Given the description of an element on the screen output the (x, y) to click on. 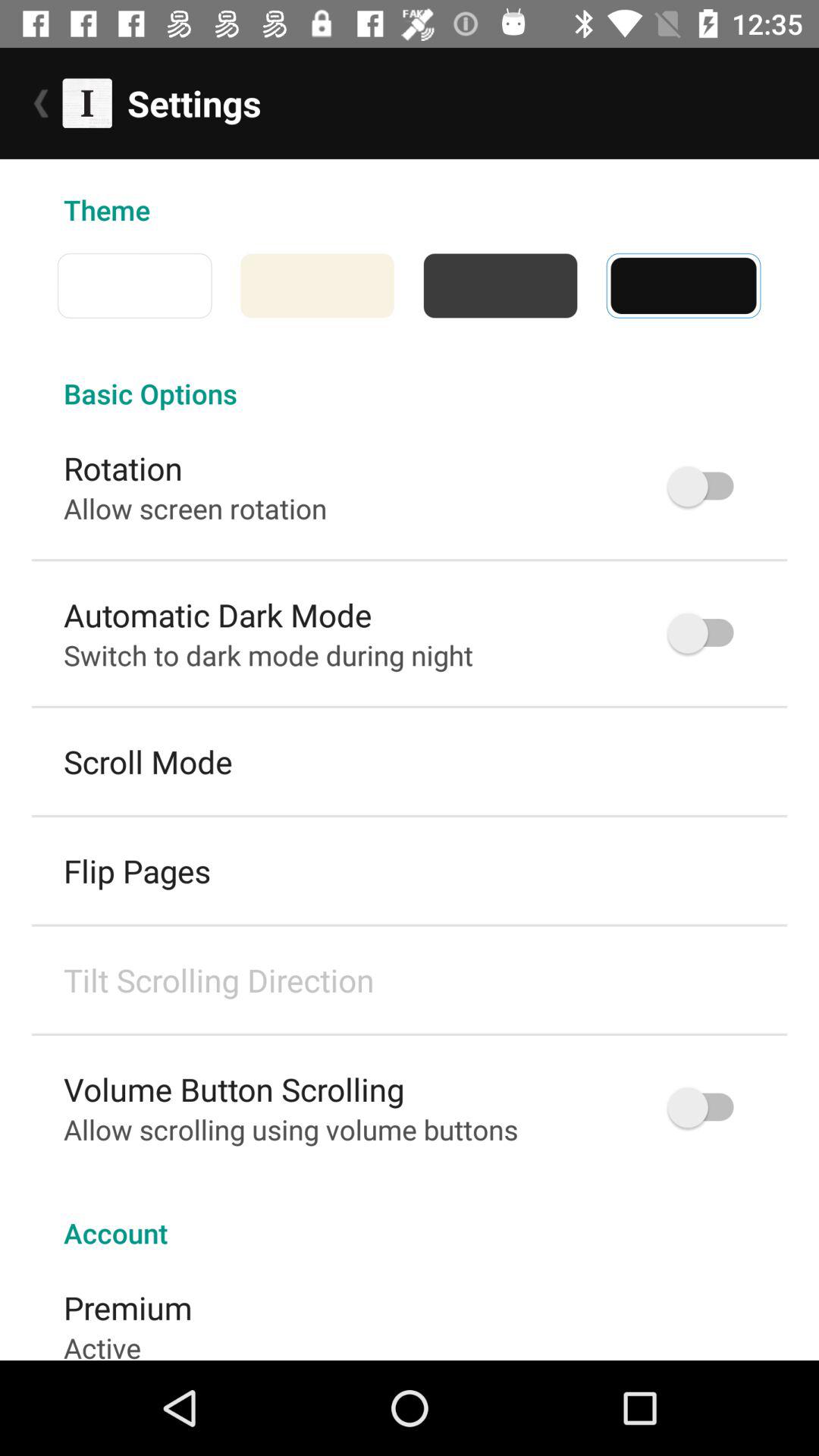
press the basic options item (409, 377)
